Given the description of an element on the screen output the (x, y) to click on. 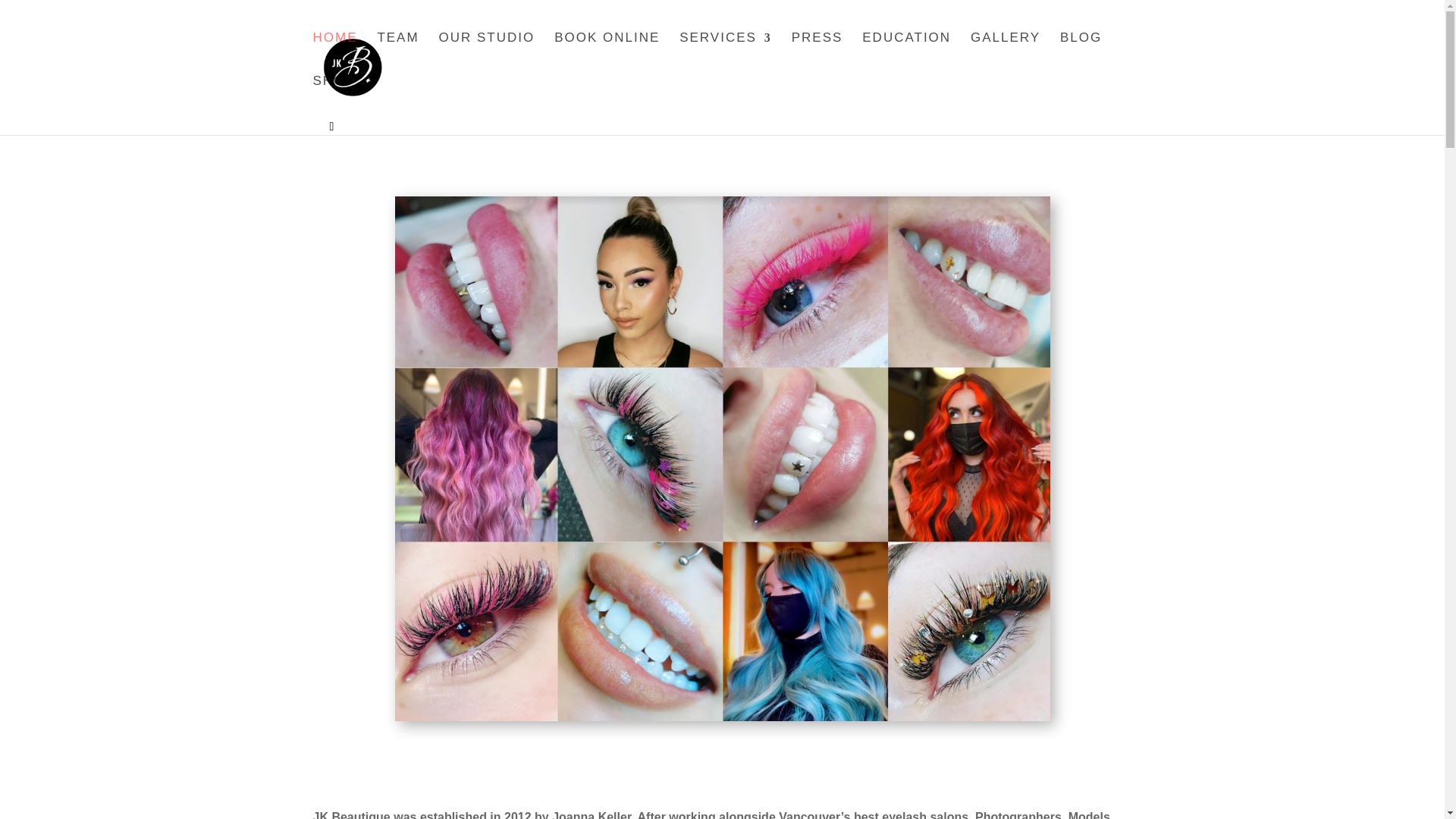
TEAM (398, 54)
PRESS (817, 54)
BOOK ONLINE (606, 54)
BLOG (1080, 54)
EDUCATION (905, 54)
HOME (334, 54)
OUR STUDIO (487, 54)
SHOP (334, 97)
GALLERY (1006, 54)
SERVICES (725, 54)
